Given the description of an element on the screen output the (x, y) to click on. 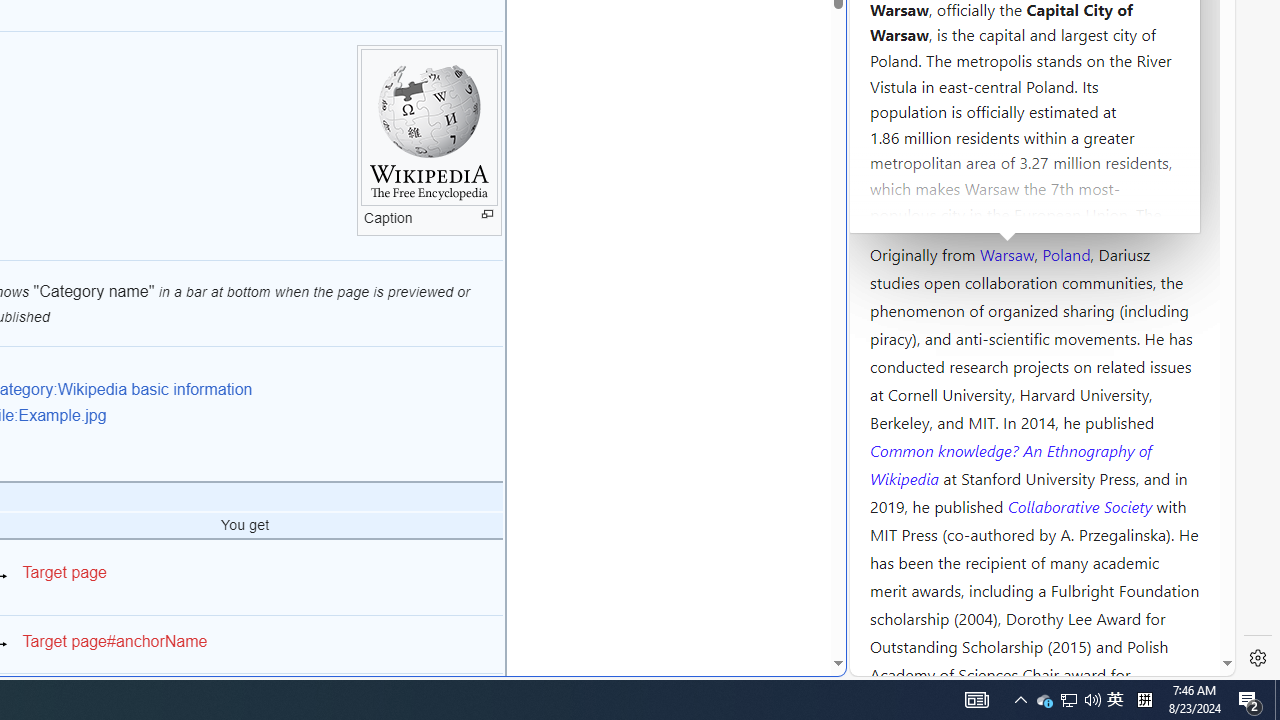
Warsaw (1006, 253)
